Given the description of an element on the screen output the (x, y) to click on. 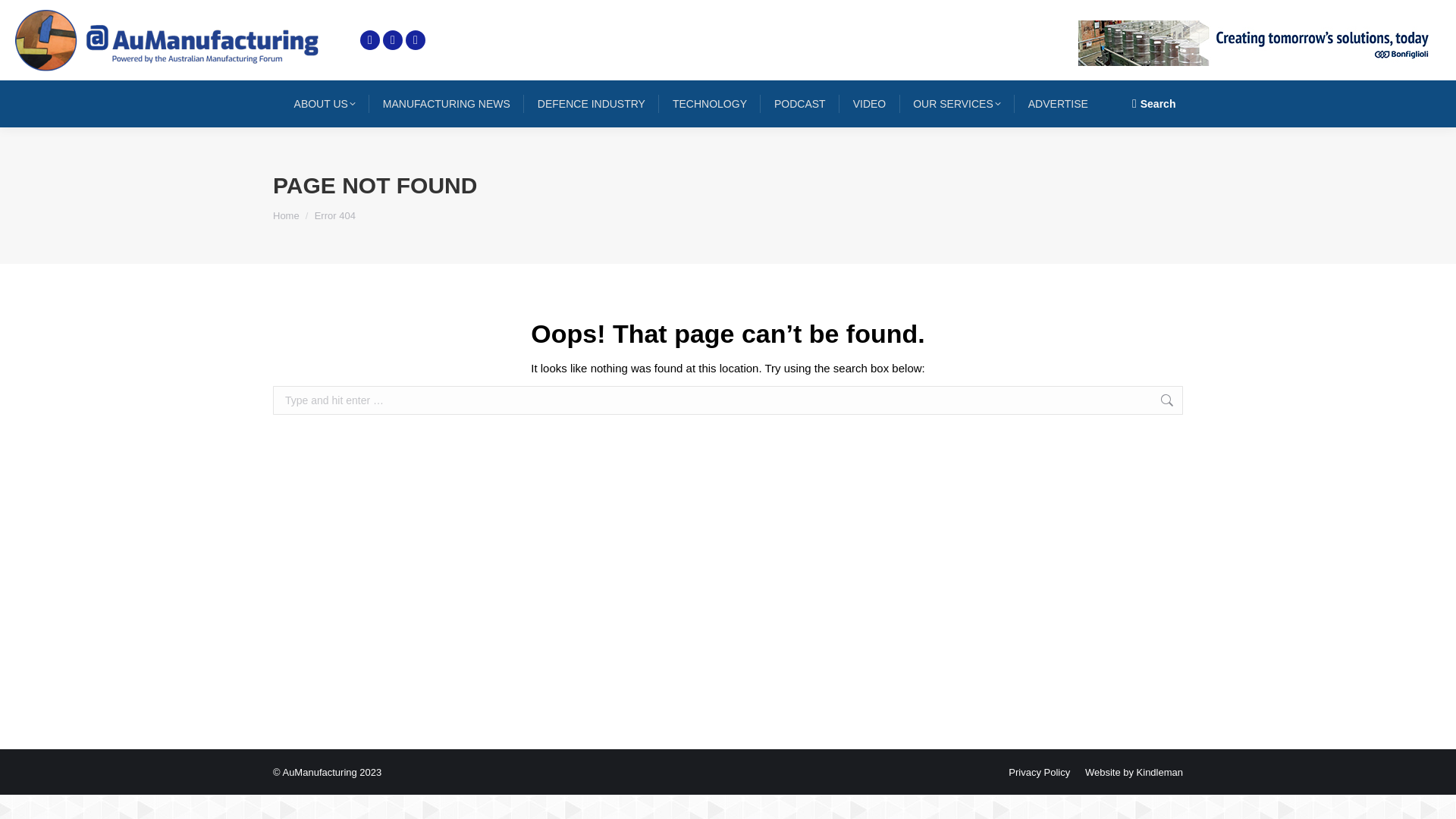
Home (286, 215)
ADVERTISE (1057, 103)
Linkedin page opens in new window (392, 39)
X page opens in new window (369, 39)
VIDEO (869, 103)
YouTube page opens in new window (415, 39)
Search (1154, 103)
Go! (1206, 402)
TECHNOLOGY (709, 103)
X page opens in new window (369, 39)
Linkedin page opens in new window (392, 39)
Go! (24, 16)
DEFENCE INDUSTRY (590, 103)
YouTube page opens in new window (415, 39)
OUR SERVICES (957, 103)
